Given the description of an element on the screen output the (x, y) to click on. 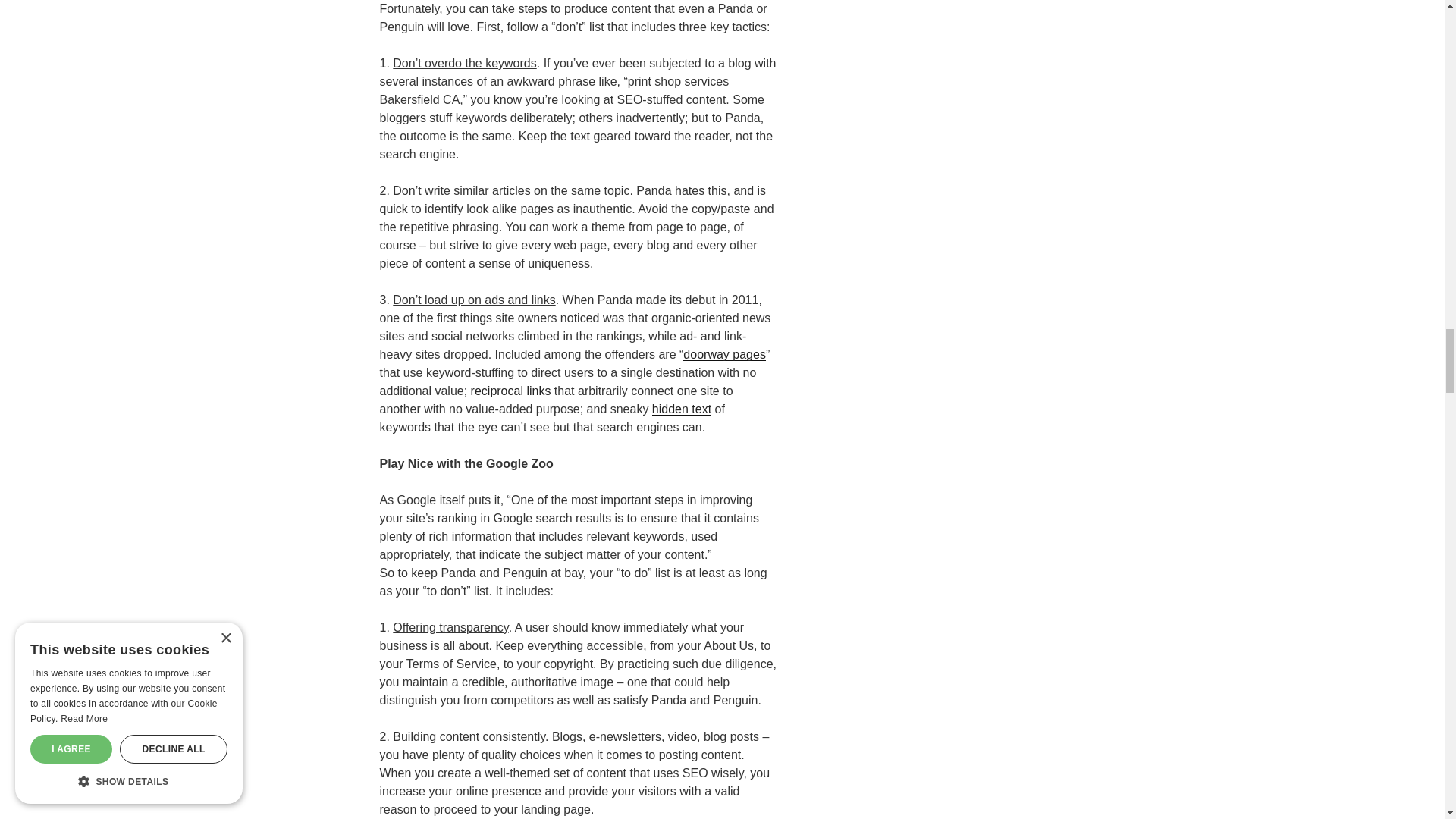
doorway pages (723, 354)
reciprocal links (510, 390)
hidden text (681, 408)
